Given the description of an element on the screen output the (x, y) to click on. 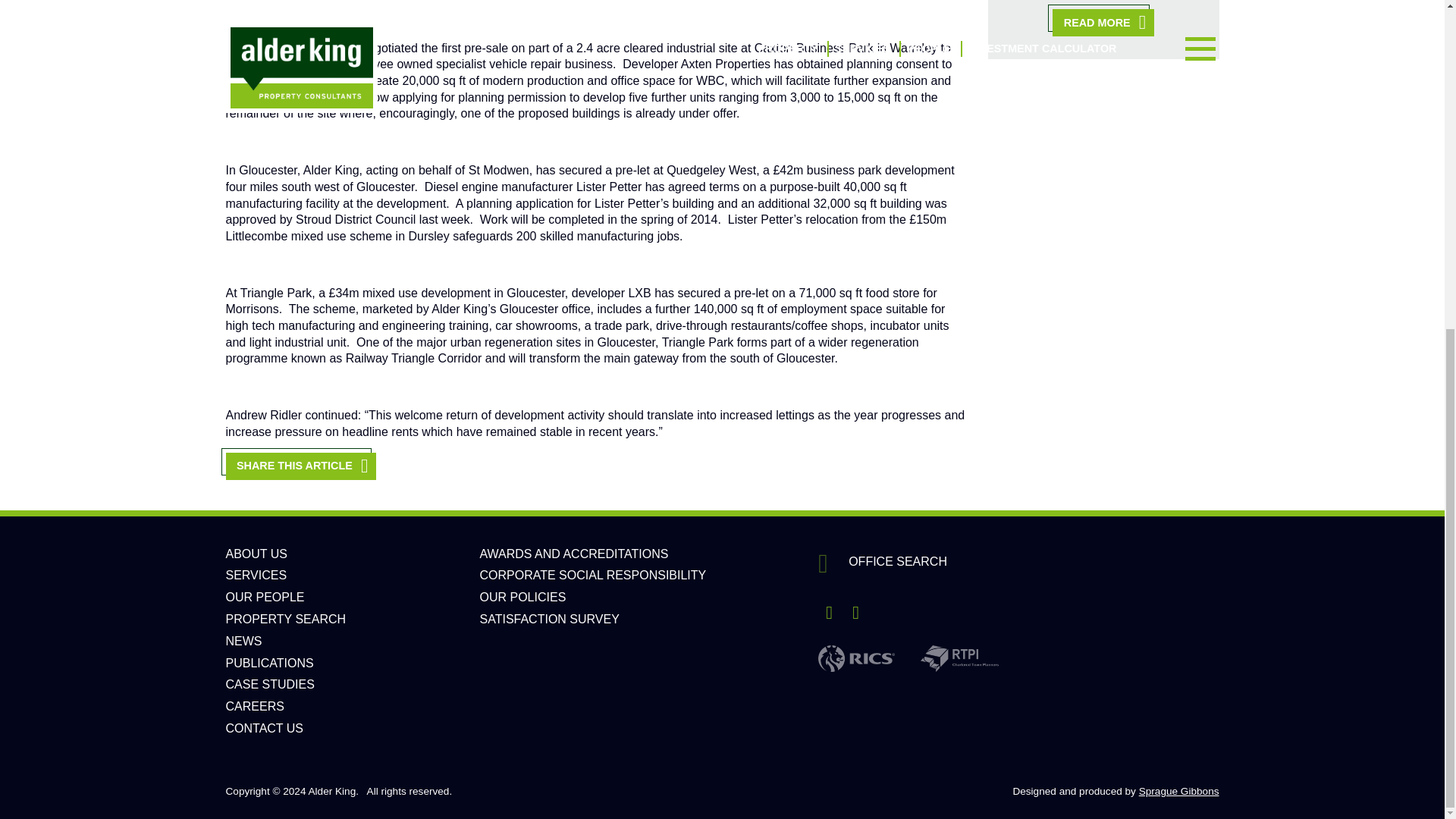
READ MORE (1102, 22)
CAREERS (254, 706)
PUBLICATIONS (269, 662)
NEWS (243, 640)
CORPORATE SOCIAL RESPONSIBILITY (592, 574)
OUR PEOPLE (264, 596)
SATISFACTION SURVEY (548, 618)
AWARDS AND ACCREDITATIONS (573, 553)
PROPERTY SEARCH (285, 618)
CASE STUDIES (269, 684)
SHARE THIS ARTICLE (300, 465)
CONTACT US (264, 727)
OUR POLICIES (522, 596)
SERVICES (255, 574)
ABOUT US (256, 553)
